Given the description of an element on the screen output the (x, y) to click on. 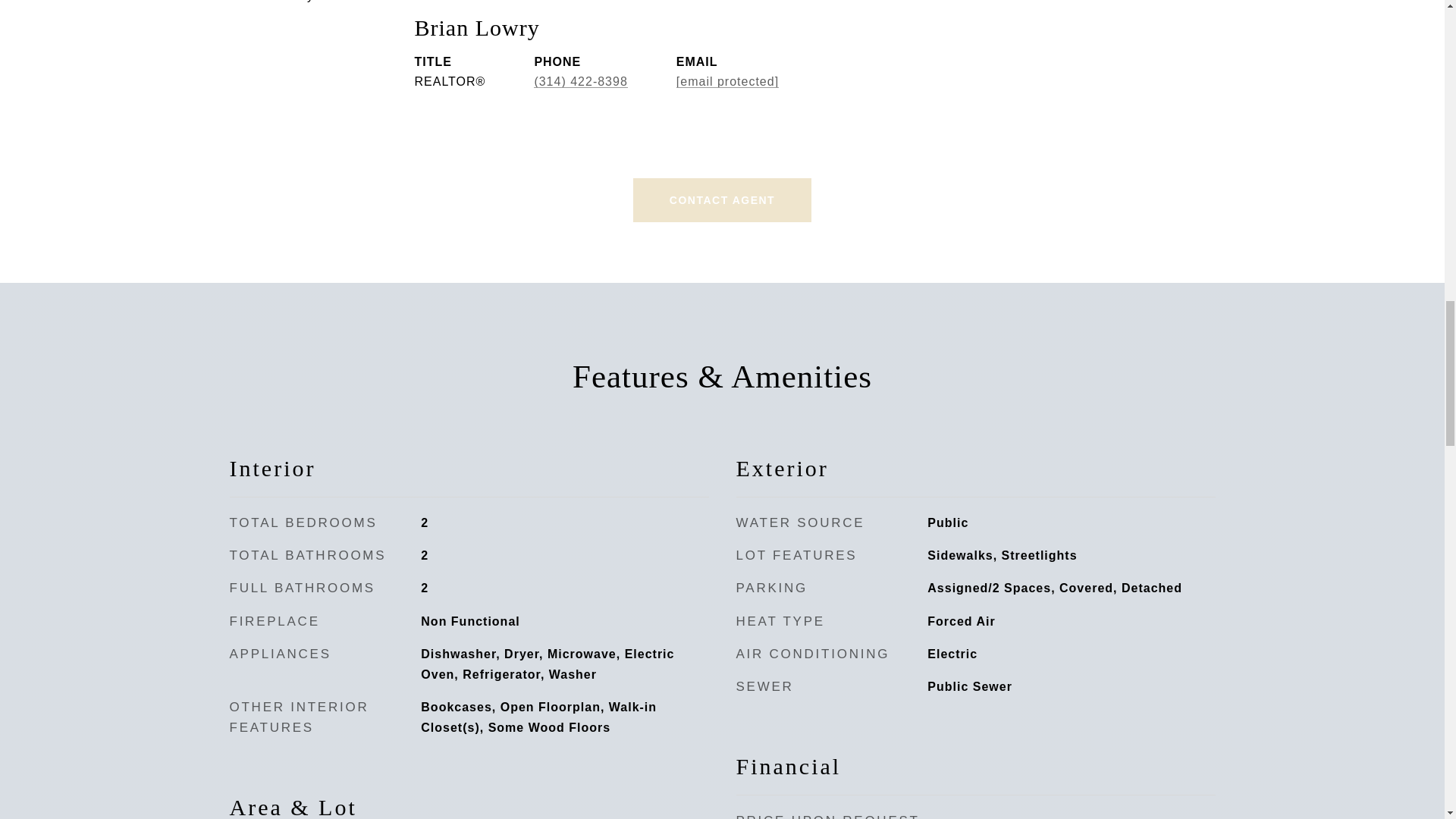
CONTACT AGENT (721, 199)
